Given the description of an element on the screen output the (x, y) to click on. 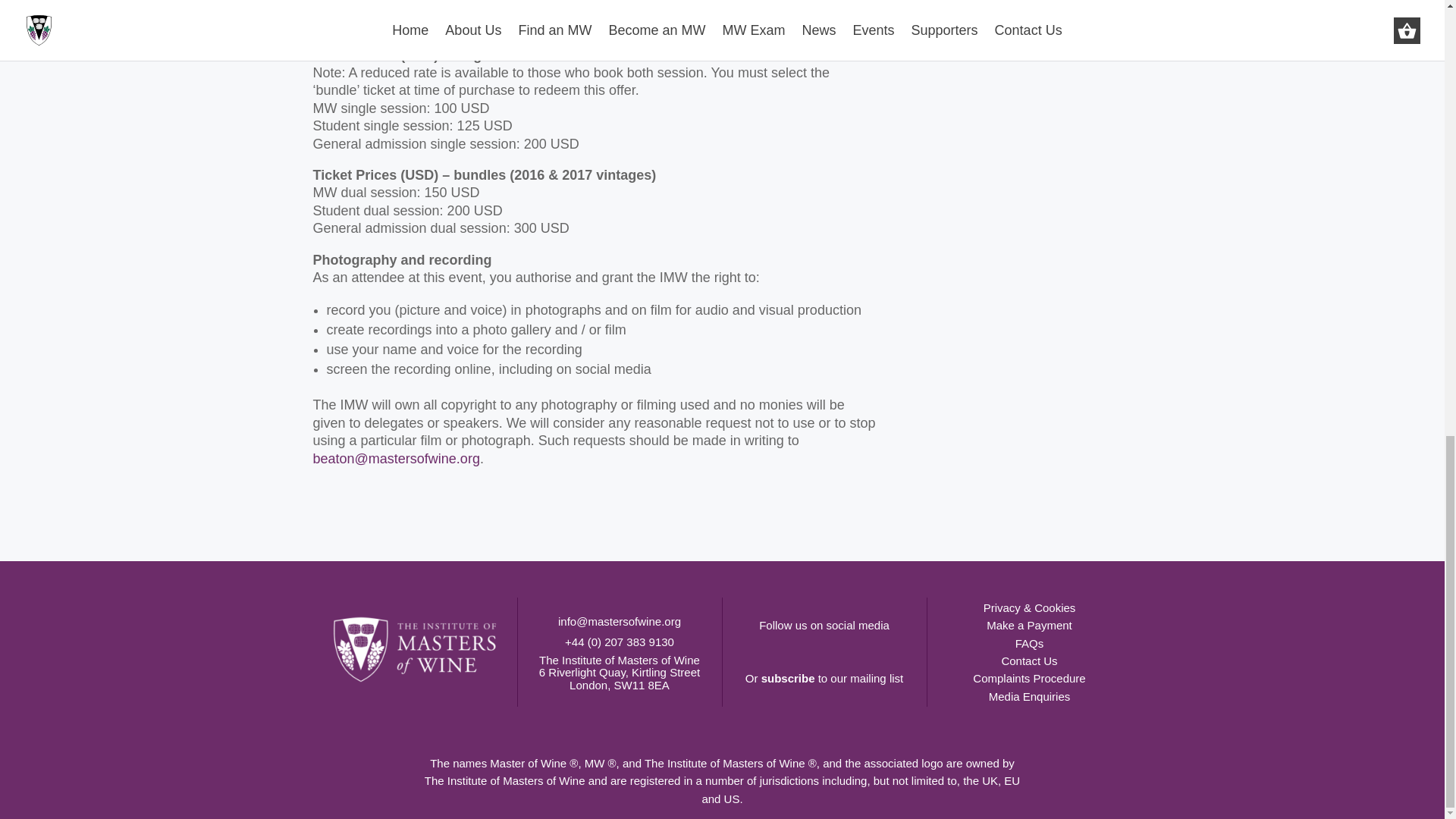
Complaints Procedure (1028, 677)
Make a Payment (1029, 625)
Katie Bono (345, 23)
Nancy Johnson (614, 6)
Media Enquiries (1029, 696)
FAQs (1028, 642)
subscribe (788, 677)
Contact Us (1029, 660)
